Given the description of an element on the screen output the (x, y) to click on. 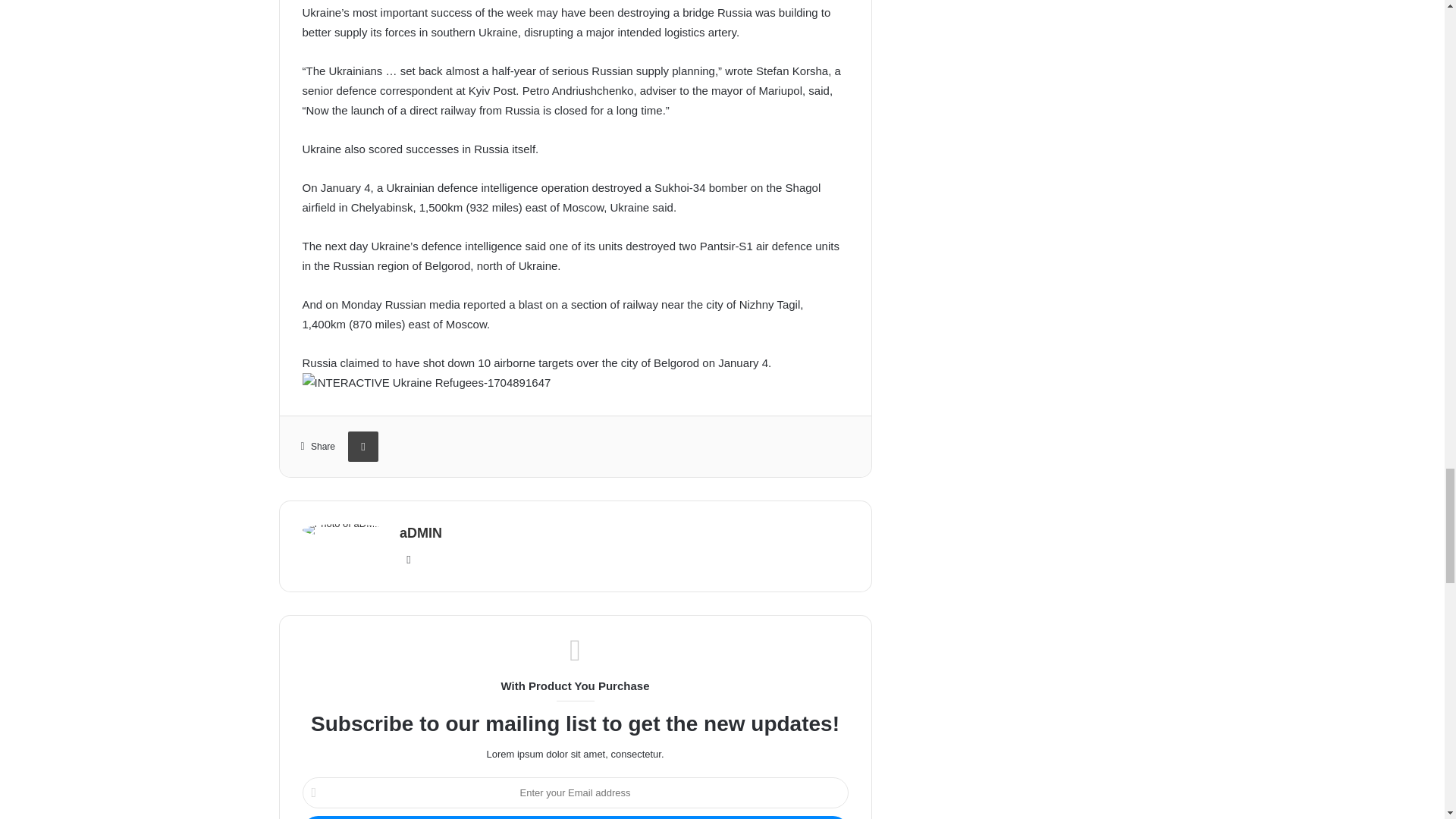
Website (407, 559)
Print (362, 446)
aDMIN (420, 532)
Print (362, 446)
